Given the description of an element on the screen output the (x, y) to click on. 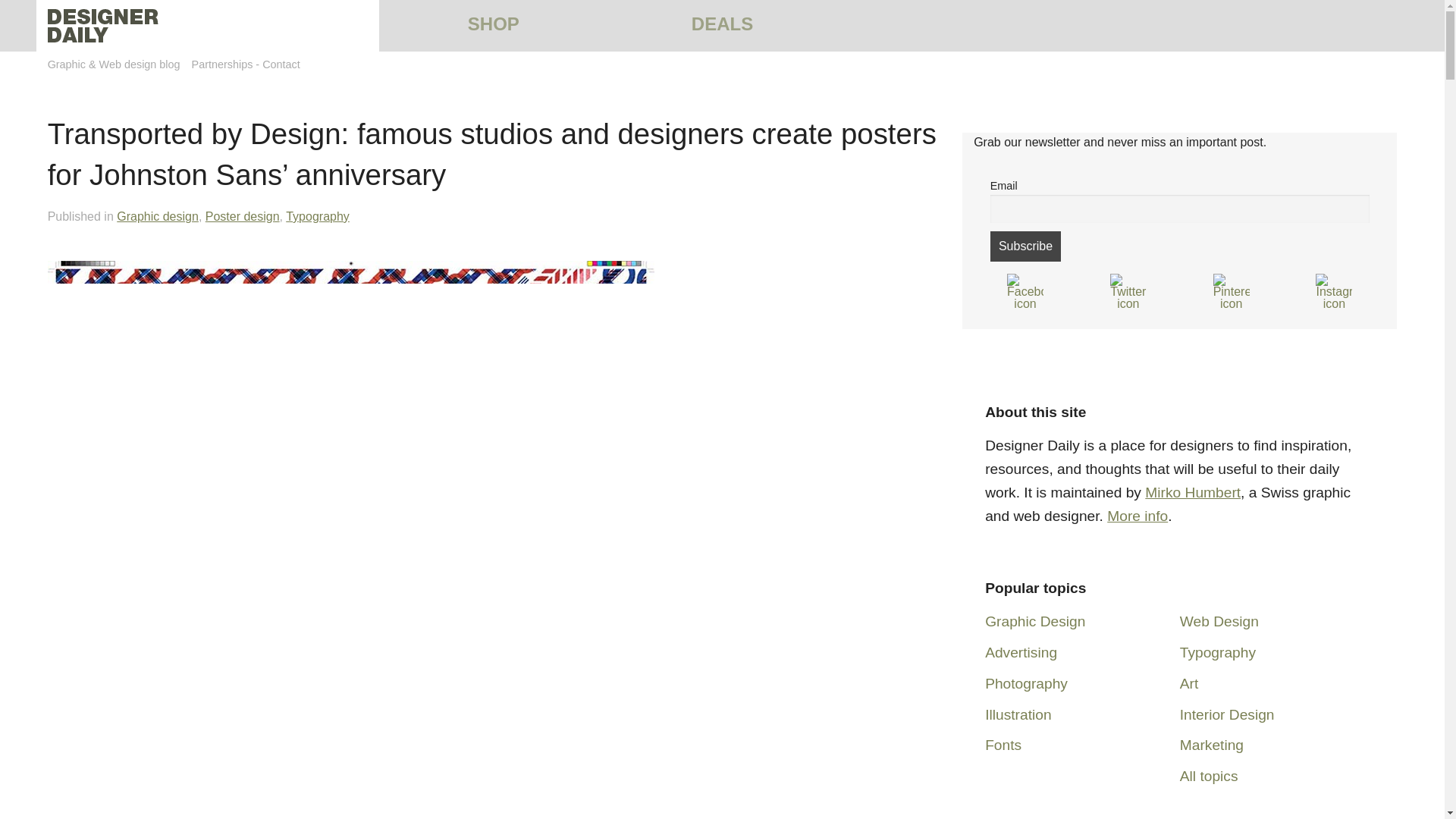
Fonts (1003, 744)
Collaboration page (222, 64)
Portfolio of Mirko Humbert (1192, 492)
Twitter stream (1128, 291)
Partnerships (222, 64)
Interior Design (1227, 714)
Subscribe (1025, 245)
Art (1188, 683)
Art posts (1188, 683)
Web design posts (1219, 621)
